Given the description of an element on the screen output the (x, y) to click on. 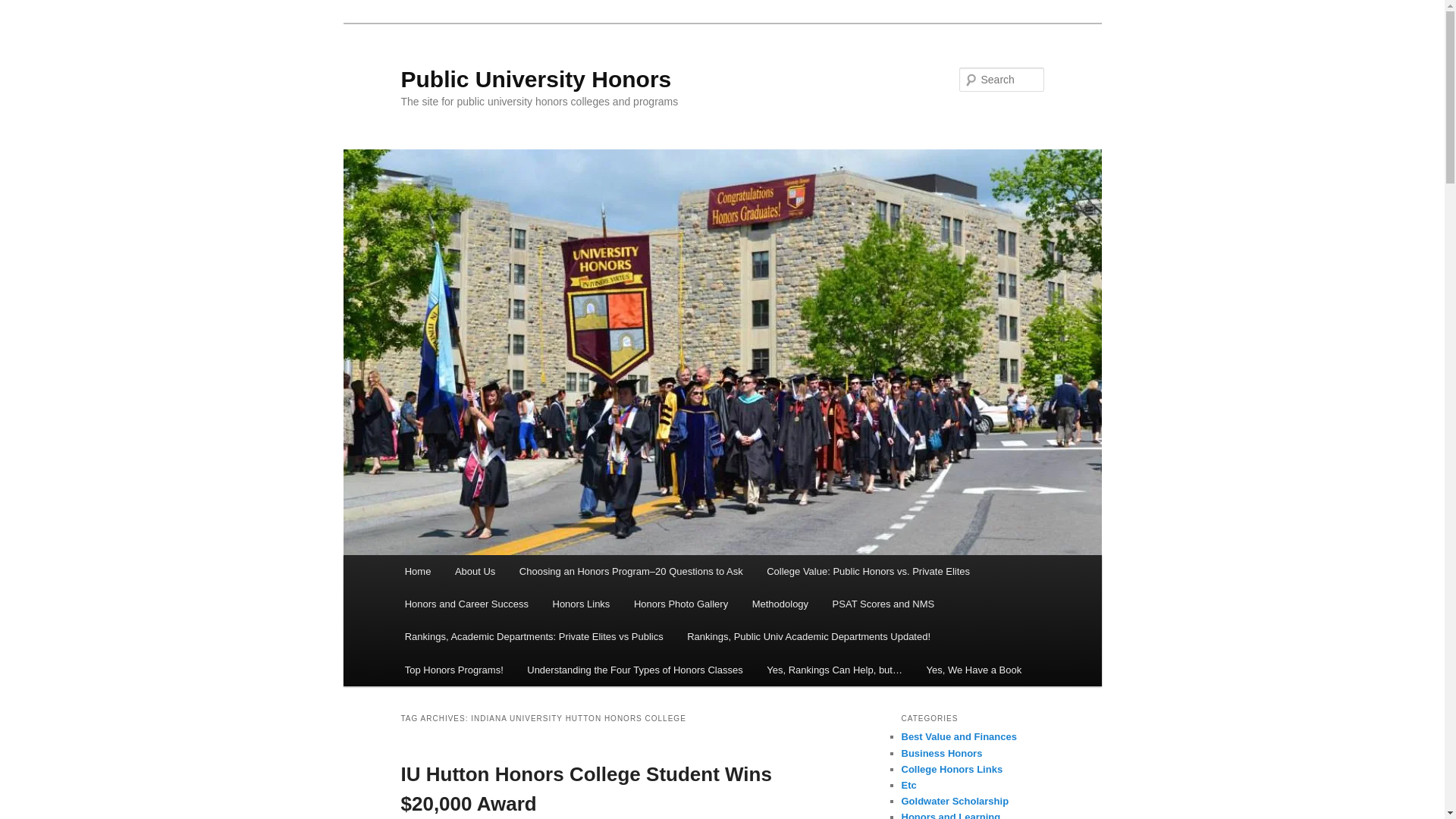
Rankings, Public Univ Academic Departments Updated! (808, 635)
Honors Links (580, 603)
Honors and Career Success (466, 603)
Top Honors Programs! (454, 669)
Best Value and Finances (958, 736)
About Us (474, 571)
Methodology (780, 603)
Etc (908, 785)
Search (24, 8)
College Value: Public Honors vs. Private Elites (867, 571)
Goldwater Scholarship (955, 800)
Understanding the Four Types of Honors Classes (635, 669)
Rankings, Academic Departments: Private Elites vs Publics (534, 635)
Honors and Learning Technology (950, 815)
